Given the description of an element on the screen output the (x, y) to click on. 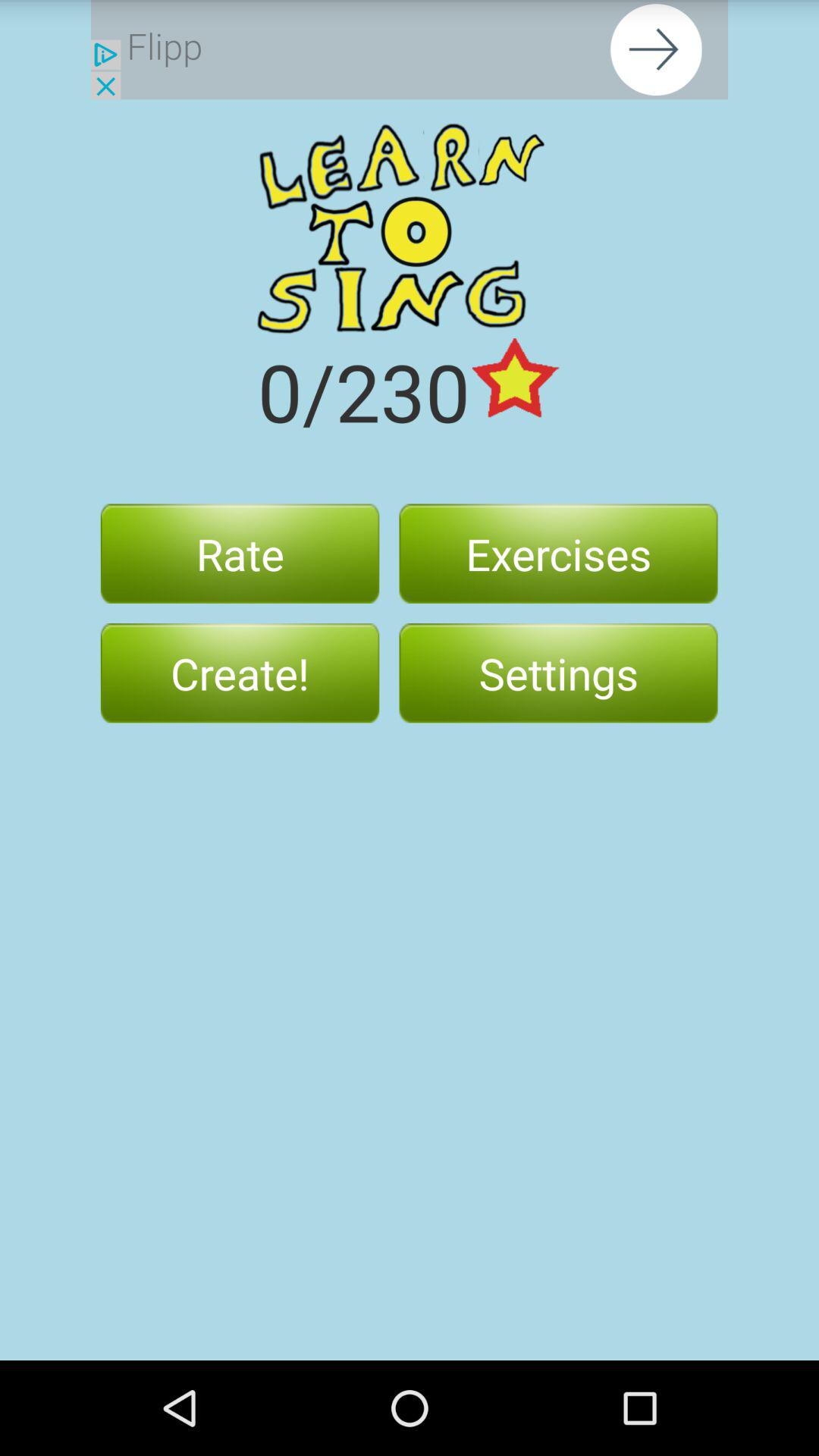
go to next (409, 49)
